Given the description of an element on the screen output the (x, y) to click on. 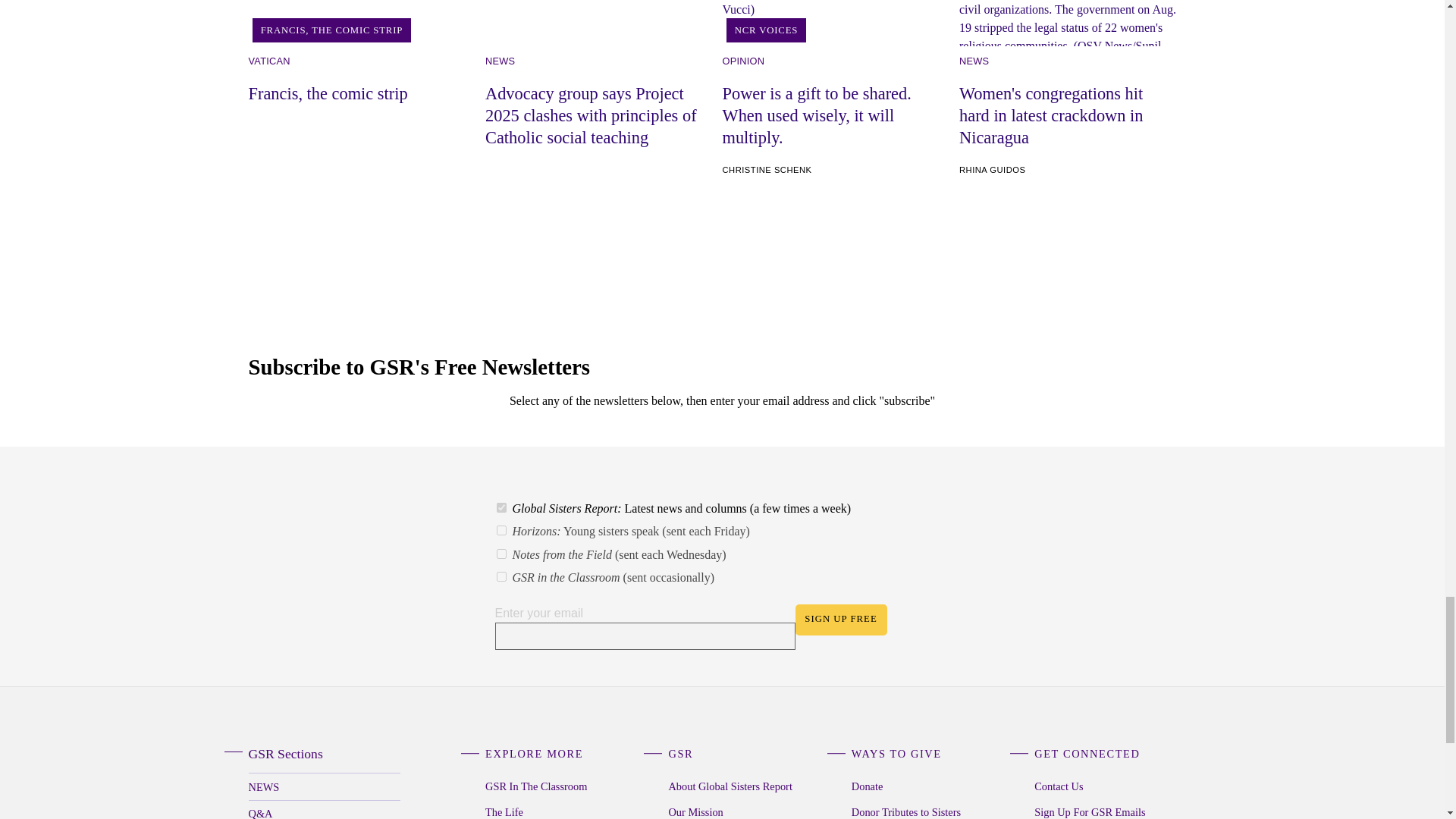
773d064319 (500, 507)
91ddd7f1a1 (500, 530)
518d5fbc7b (500, 553)
Sign up free (840, 619)
757ddab7e2 (500, 576)
